Given the description of an element on the screen output the (x, y) to click on. 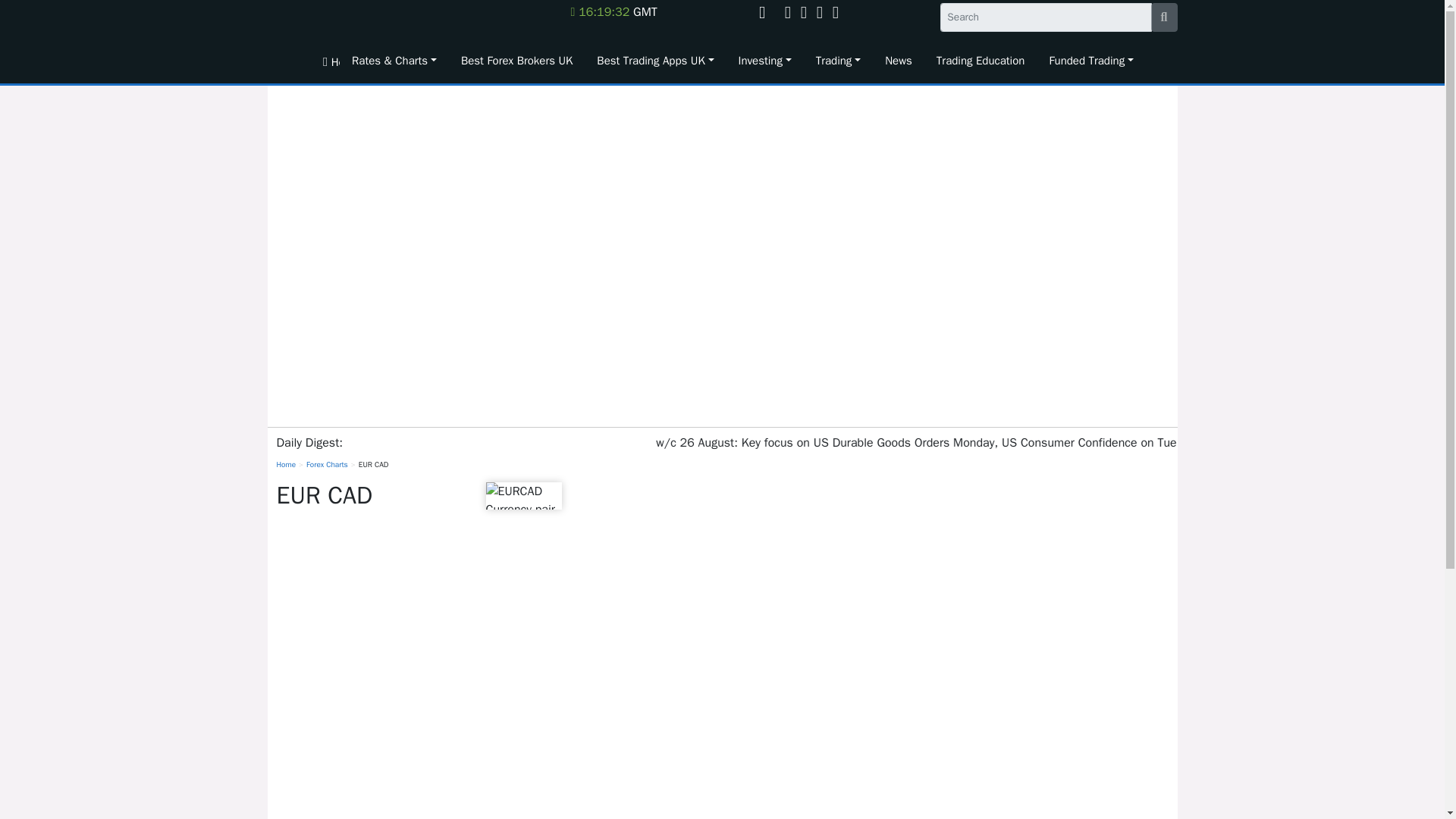
Best Trading Apps UK (655, 60)
Home (325, 60)
Best Forex Brokers UK (516, 60)
